Given the description of an element on the screen output the (x, y) to click on. 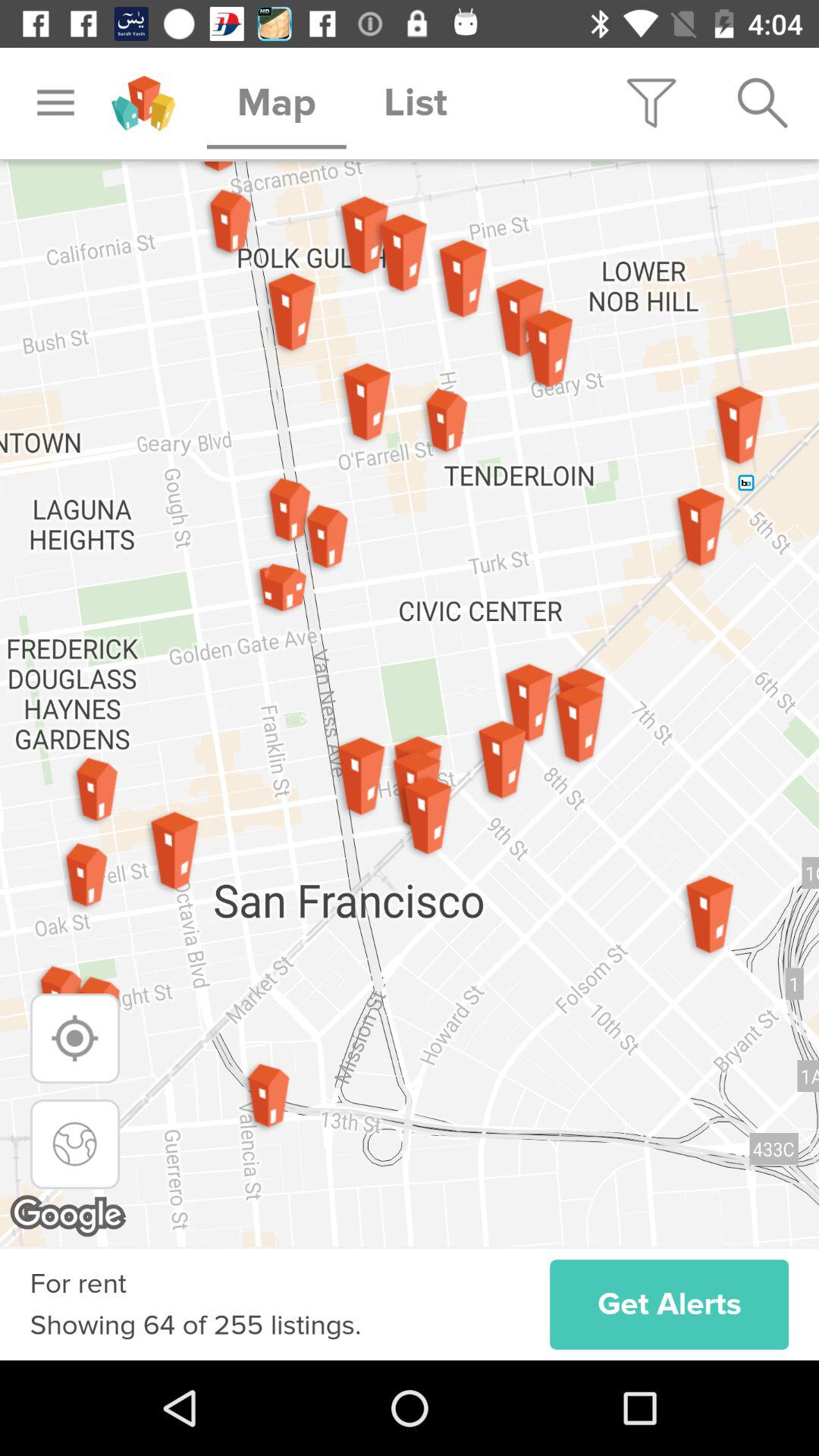
press icon next to the list item (651, 103)
